Given the description of an element on the screen output the (x, y) to click on. 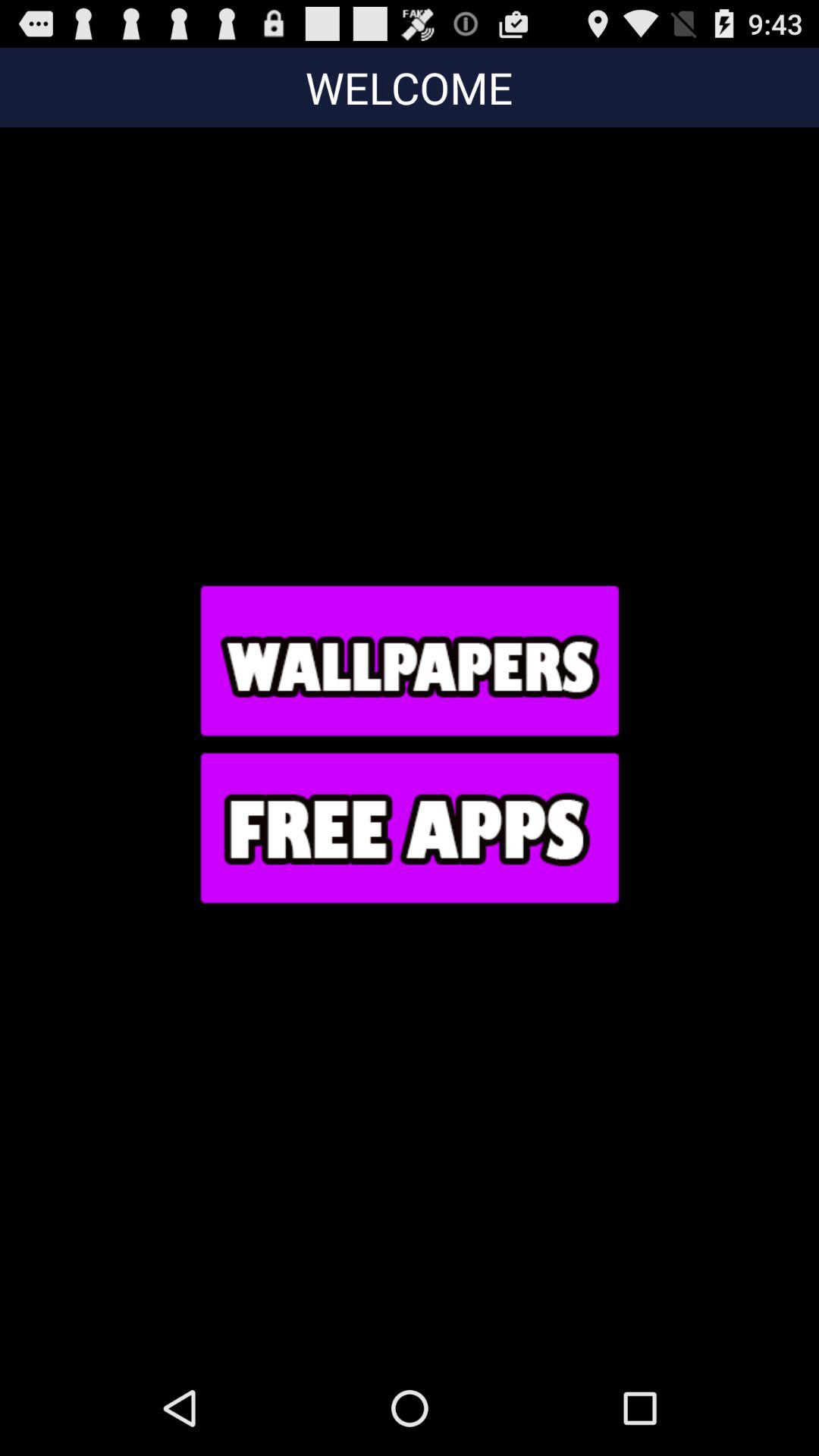
go do free apps (408, 827)
